Given the description of an element on the screen output the (x, y) to click on. 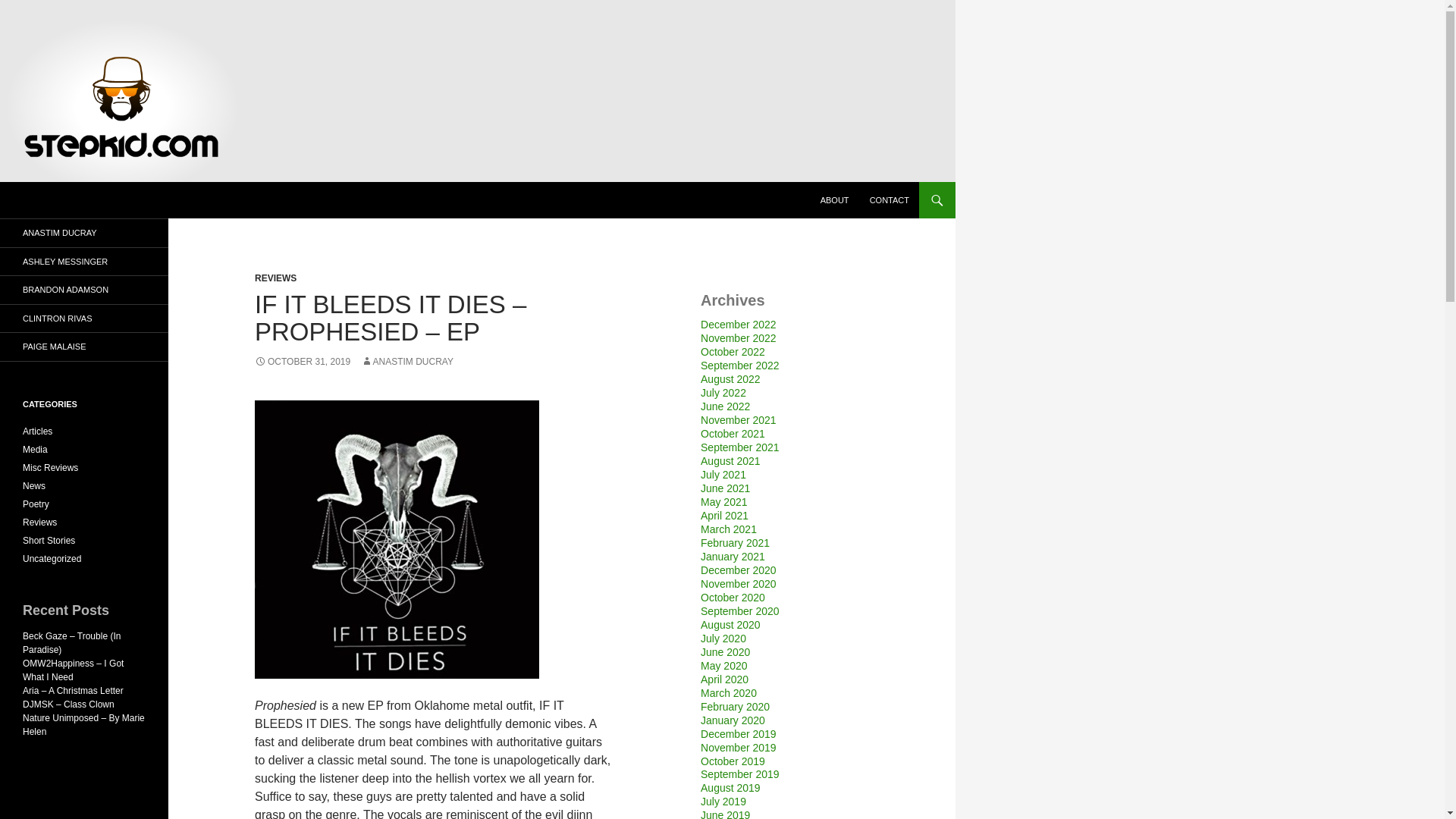
June 2020 (724, 652)
November 2020 (738, 583)
July 2020 (722, 638)
November 2021 (738, 419)
November 2022 (738, 337)
May 2021 (723, 501)
October 2022 (732, 351)
October 2021 (732, 433)
REVIEWS (275, 277)
